Given the description of an element on the screen output the (x, y) to click on. 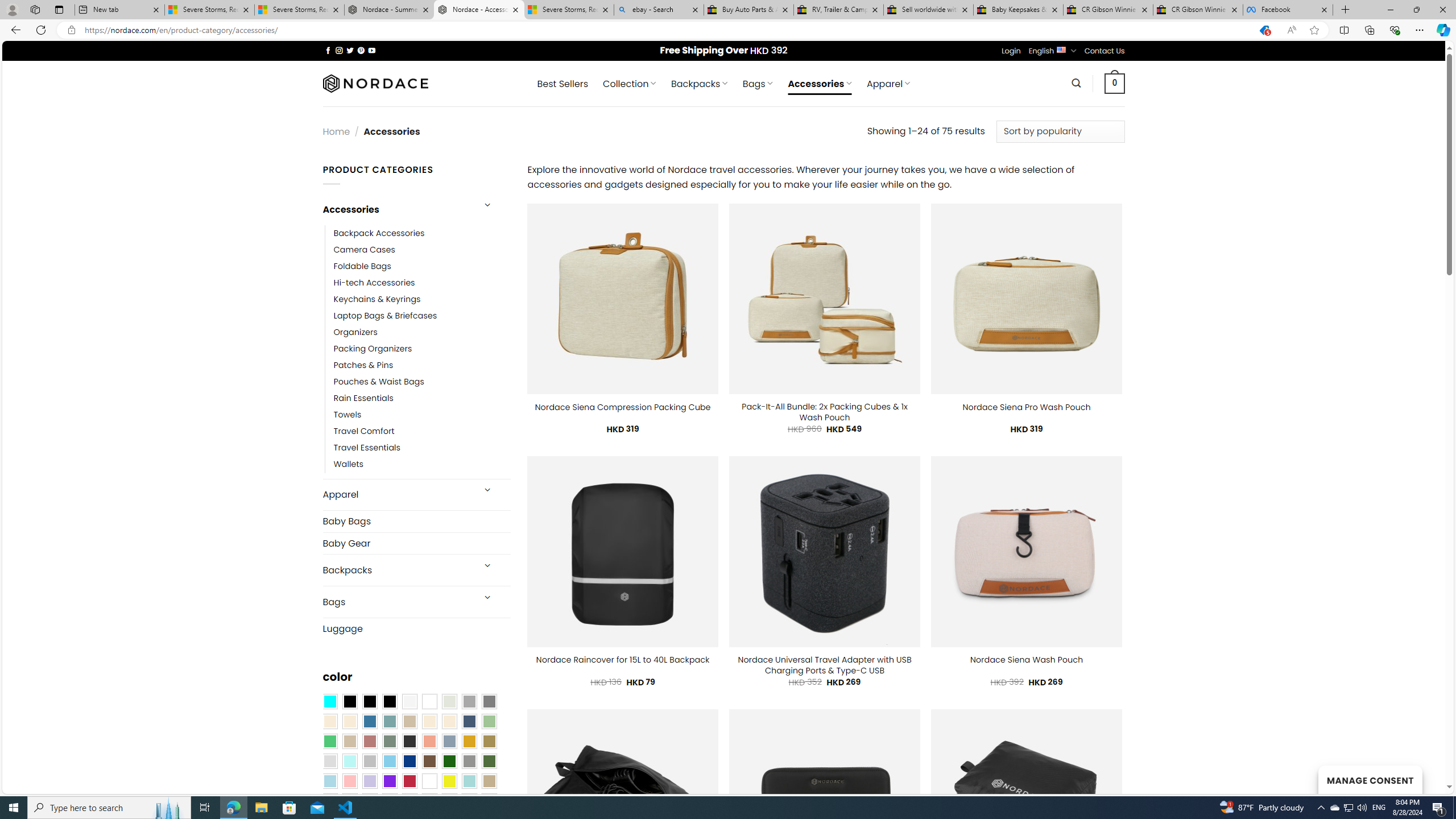
Blue Sage (389, 721)
Laptop Bags & Briefcases (384, 316)
Coral (429, 741)
Brownie (408, 721)
Light Gray (329, 761)
Laptop Bags & Briefcases (422, 316)
  Best Sellers (562, 83)
